Given the description of an element on the screen output the (x, y) to click on. 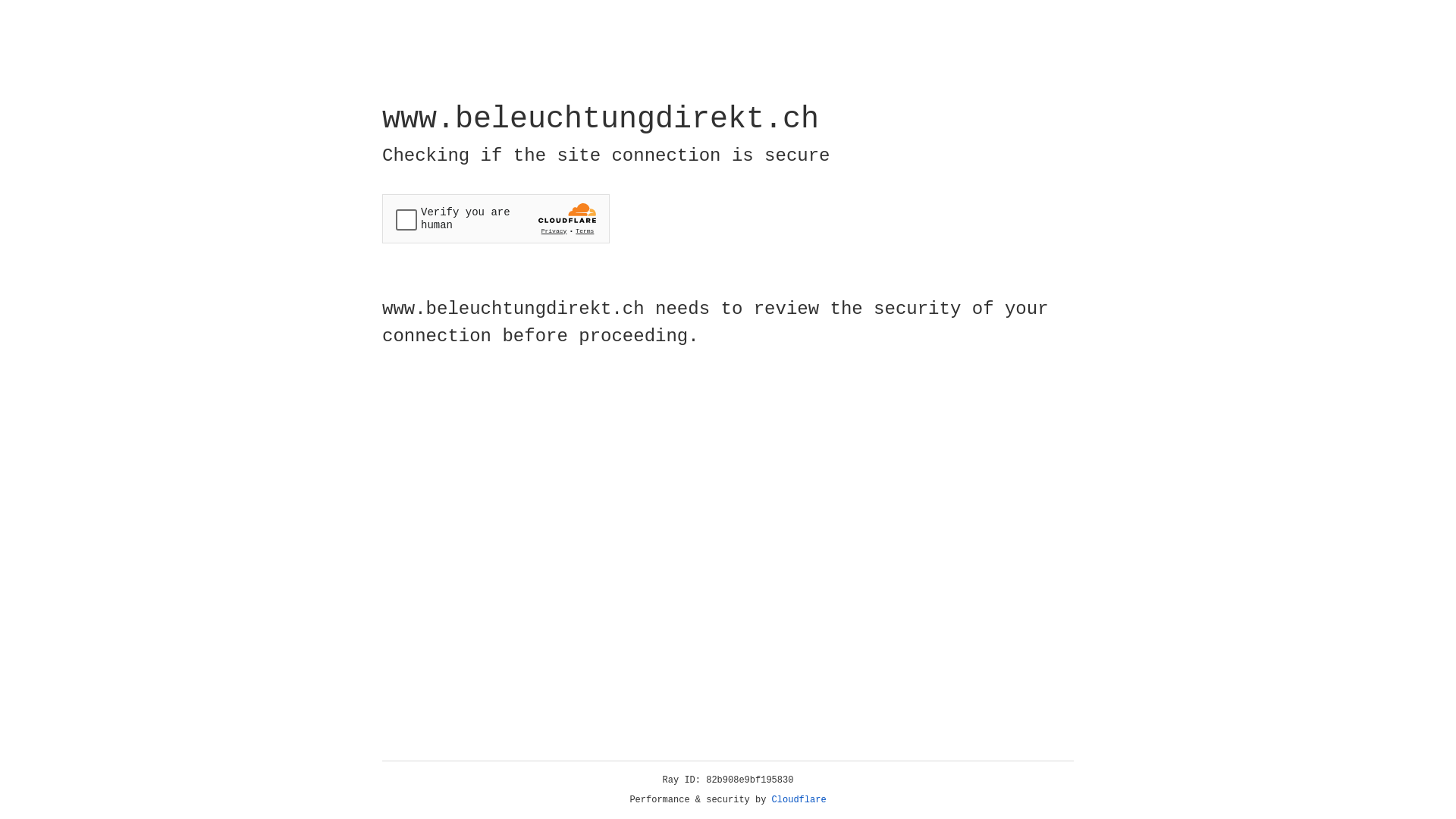
Widget containing a Cloudflare security challenge Element type: hover (495, 218)
Cloudflare Element type: text (798, 799)
